Given the description of an element on the screen output the (x, y) to click on. 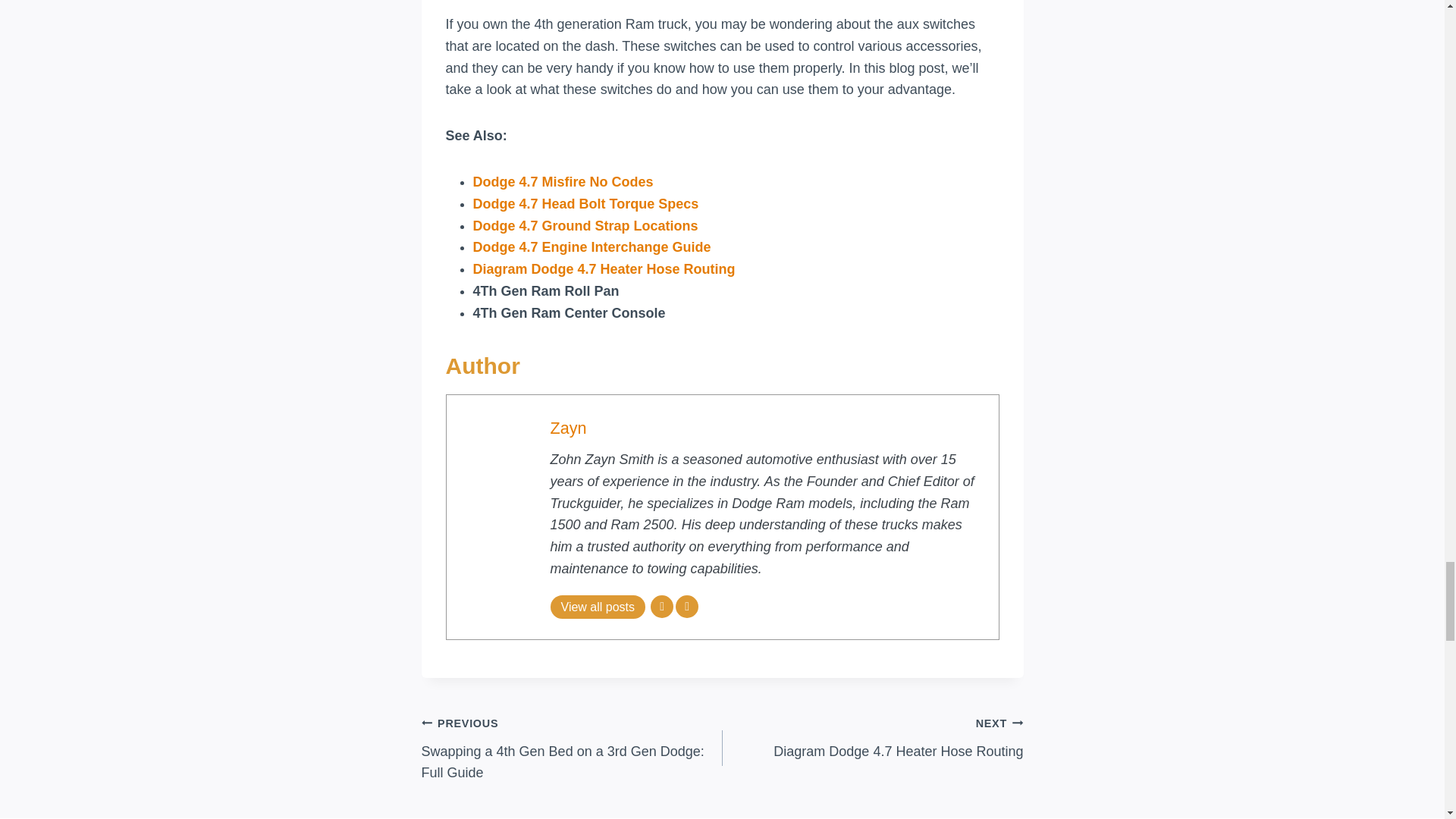
View all posts (598, 607)
Zayn (568, 427)
Dodge 4.7 Misfire No Codes (563, 181)
Dodge 4.7 Ground Strap Locations (585, 225)
Dodge 4.7 Head Bolt Torque Specs (585, 203)
